Given the description of an element on the screen output the (x, y) to click on. 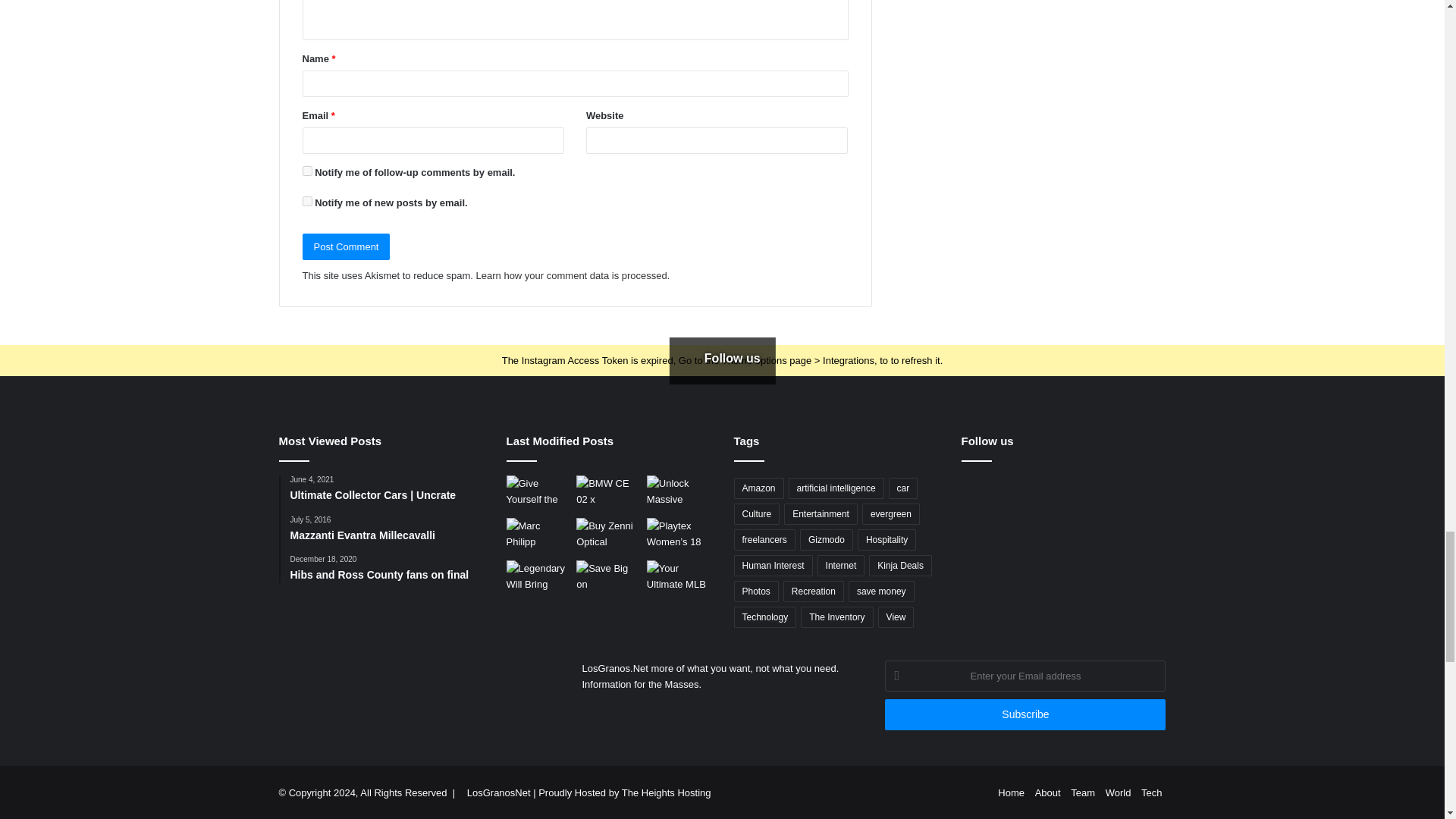
subscribe (306, 201)
Subscribe (1025, 714)
subscribe (306, 171)
Post Comment (345, 246)
